Given the description of an element on the screen output the (x, y) to click on. 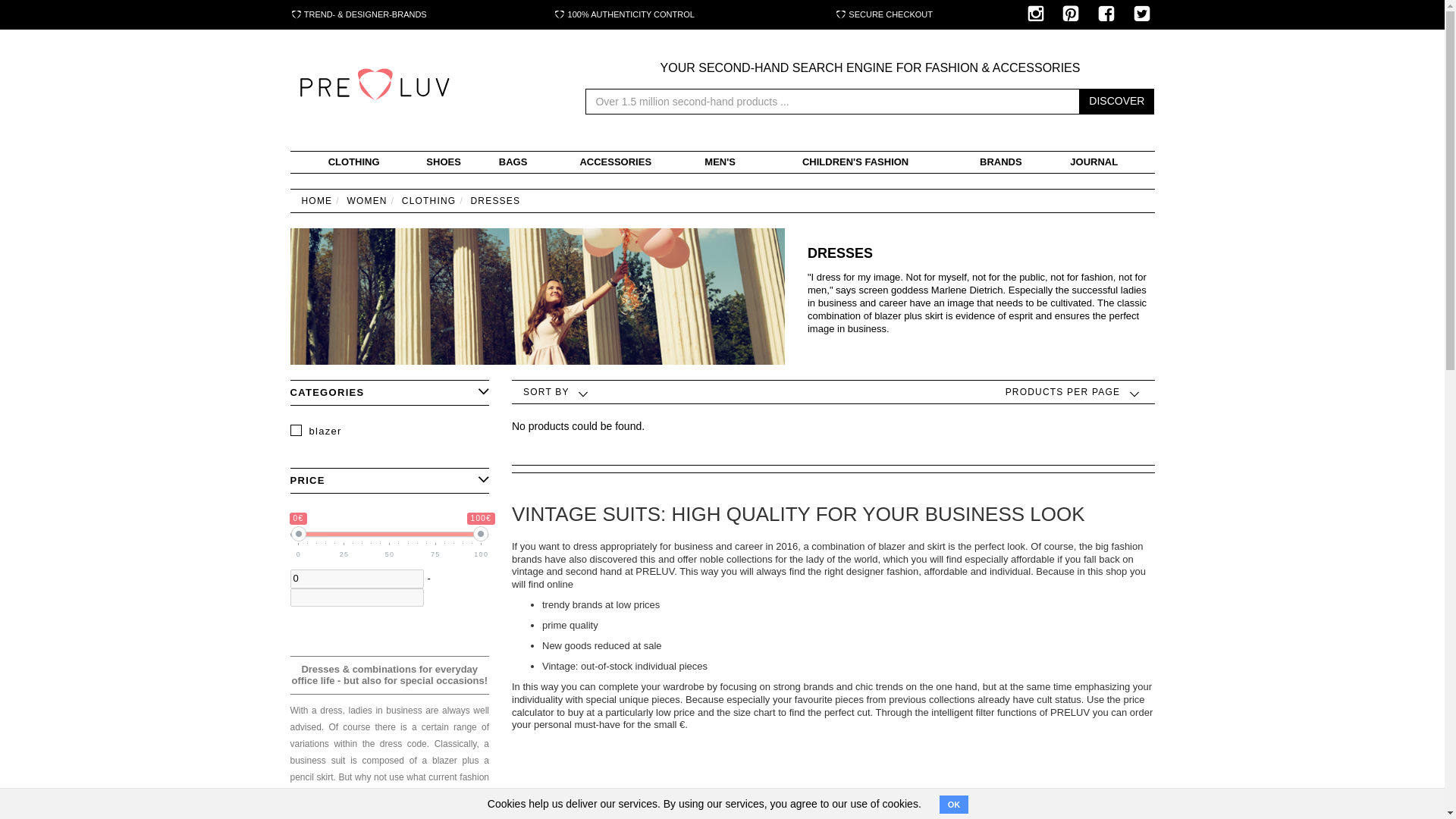
blazer (389, 430)
SHOES (443, 161)
PRELUV (373, 84)
CLOTHING (353, 161)
0 (356, 578)
DISCOVER (1116, 101)
